Given the description of an element on the screen output the (x, y) to click on. 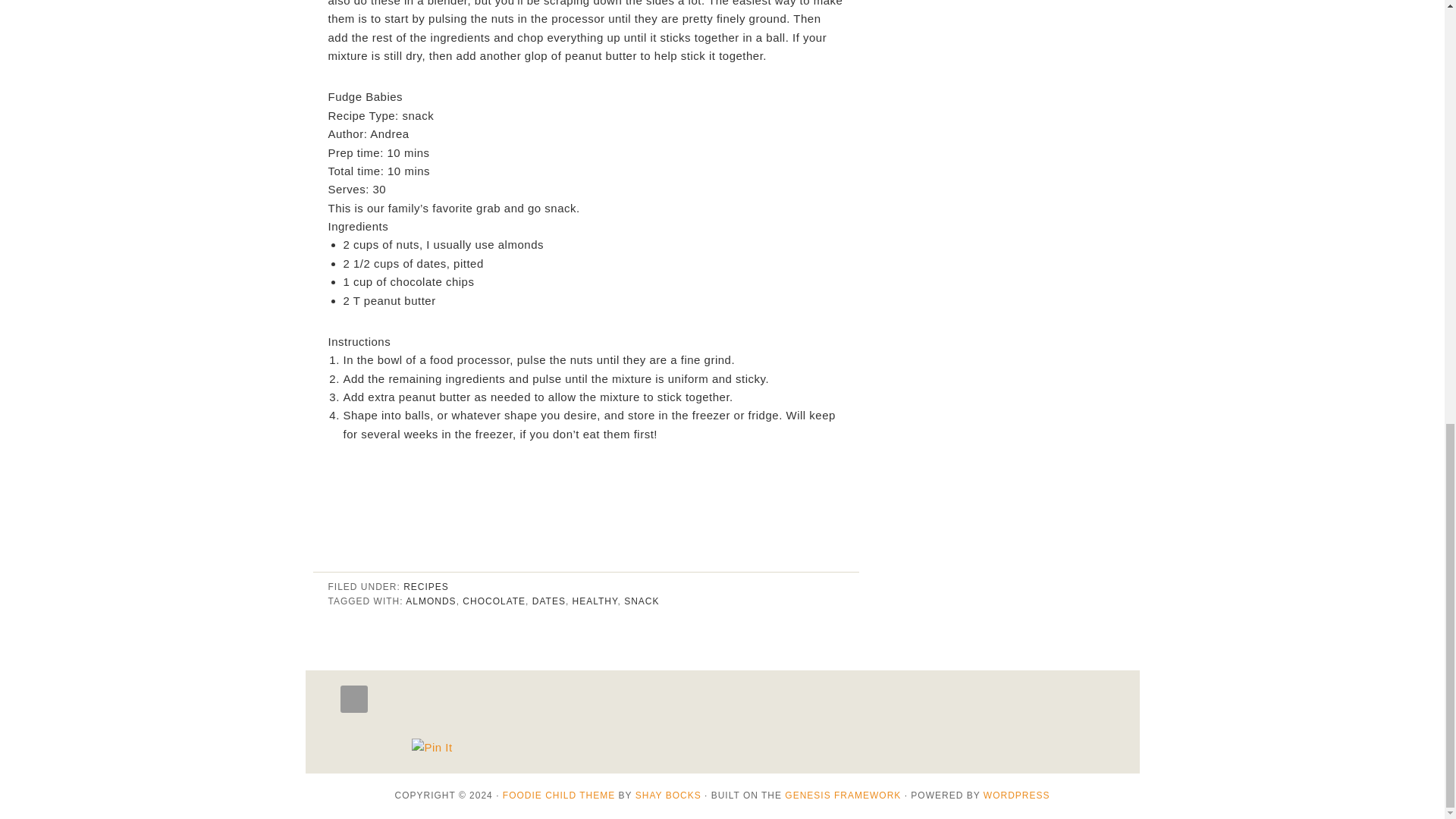
FOODIE CHILD THEME (558, 795)
ALMONDS (430, 601)
Pin It (431, 747)
RECIPES (425, 586)
HEALTHY (594, 601)
CHOCOLATE (494, 601)
SNACK (641, 601)
DATES (549, 601)
